Given the description of an element on the screen output the (x, y) to click on. 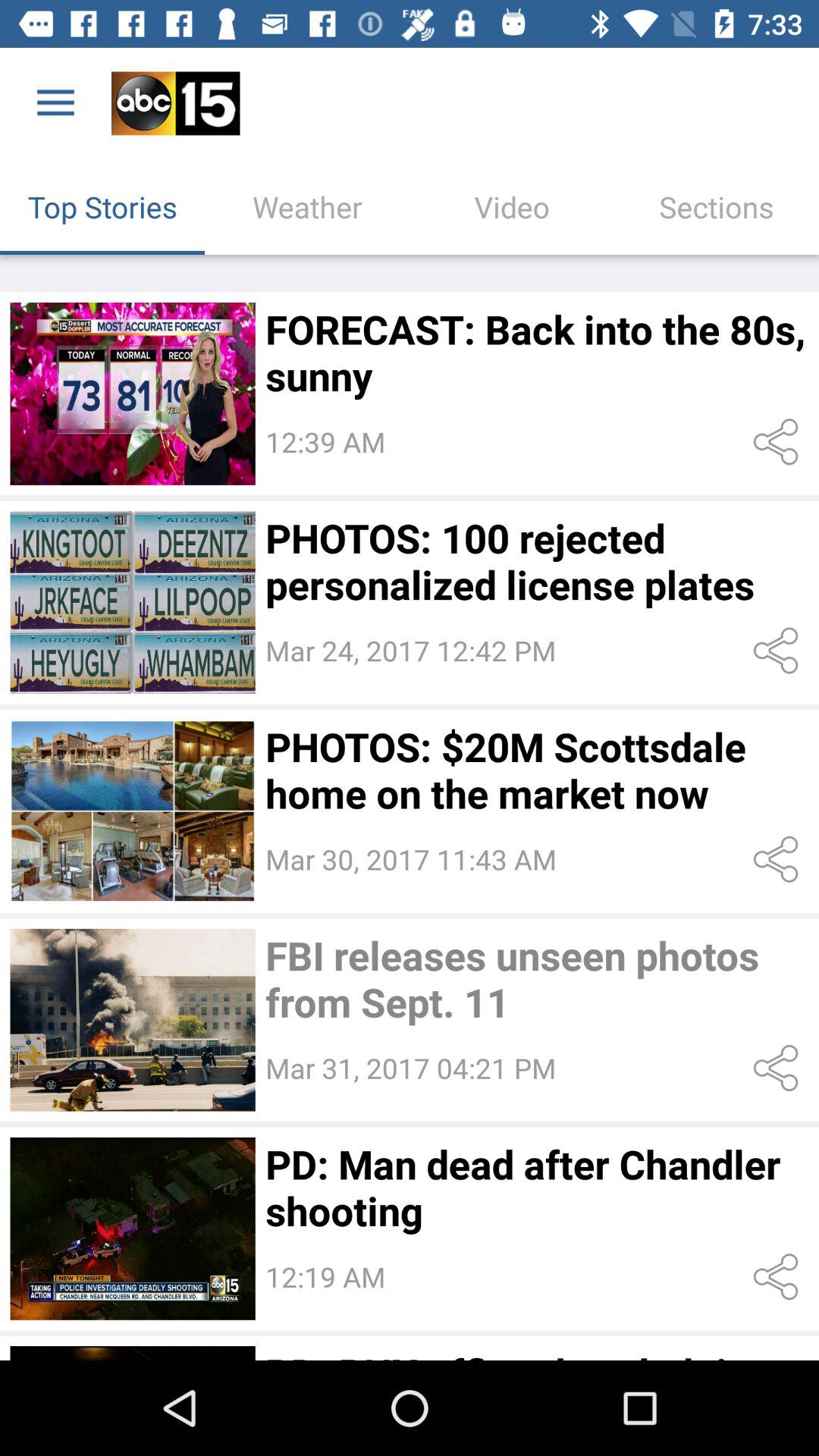
select the license plates (132, 602)
